Given the description of an element on the screen output the (x, y) to click on. 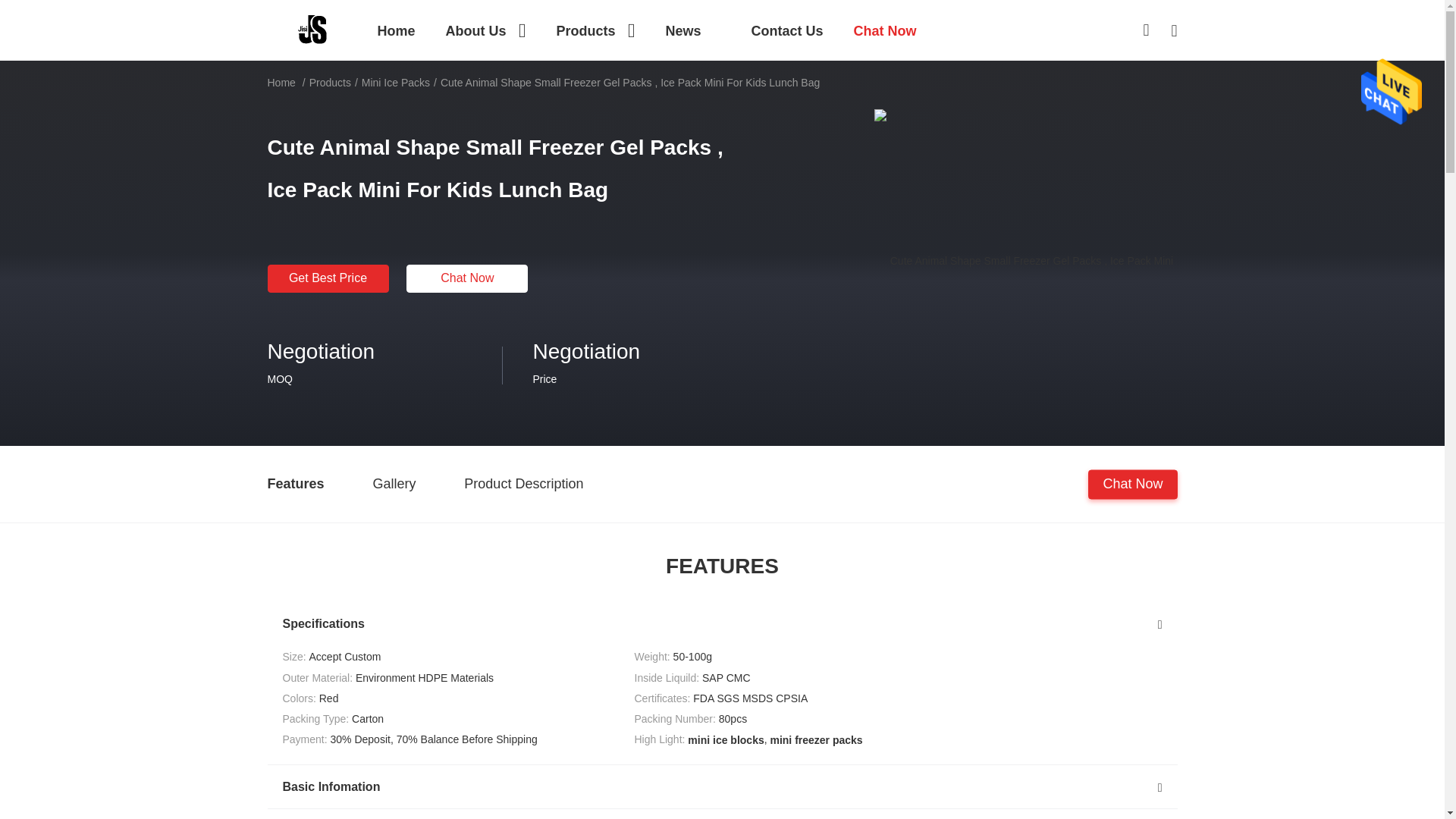
Products (595, 30)
About Us (485, 30)
Changzhou jisi cold chain technology Co.,ltd (312, 28)
Products (595, 30)
About Us (485, 30)
